Given the description of an element on the screen output the (x, y) to click on. 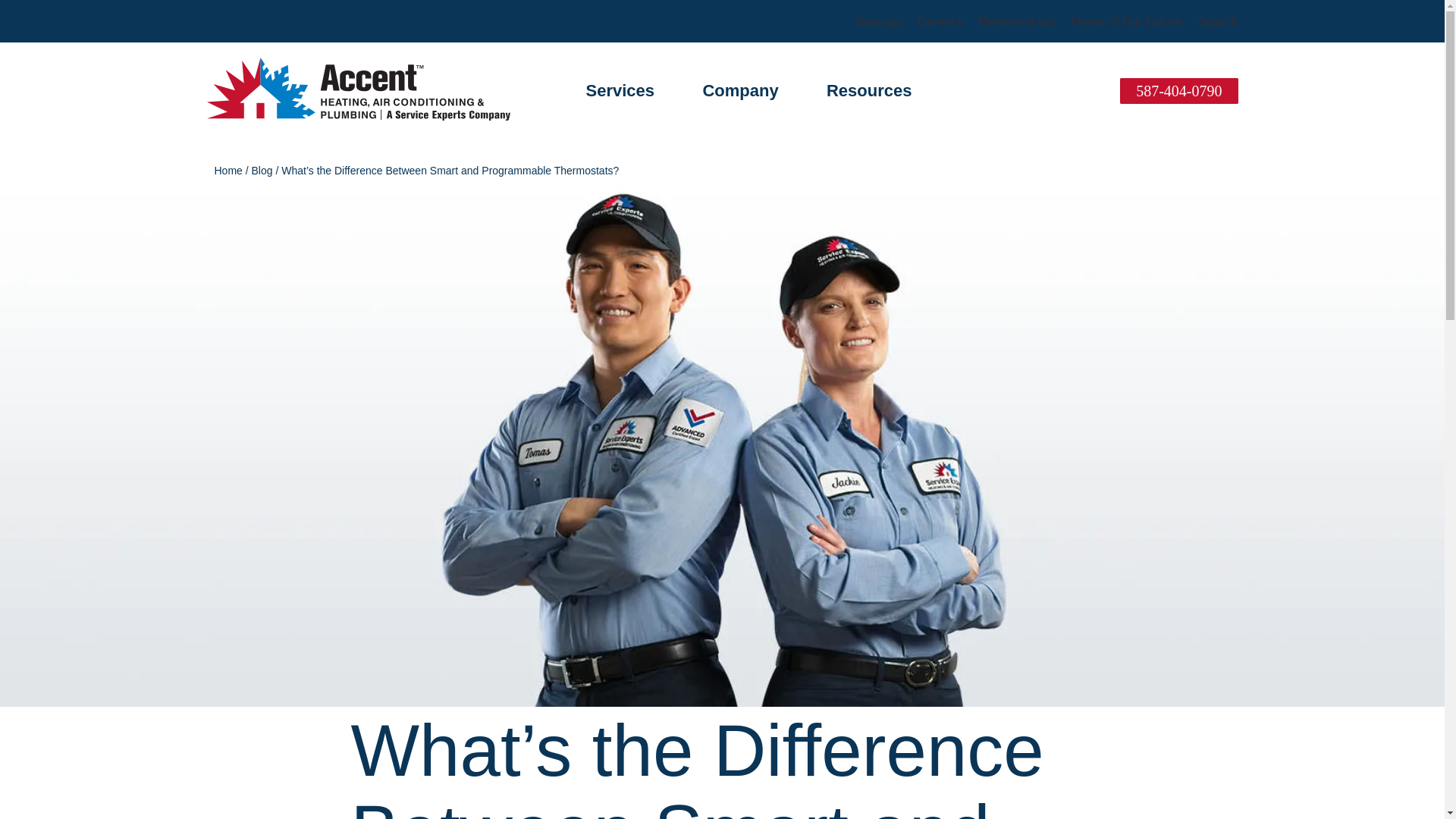
Memberships (1015, 21)
Home of the Future (1126, 21)
Careers (939, 21)
Search (1216, 21)
Services (619, 90)
Resources (869, 90)
Savings (878, 21)
587-404-0790 (1178, 90)
Company (739, 90)
